Given the description of an element on the screen output the (x, y) to click on. 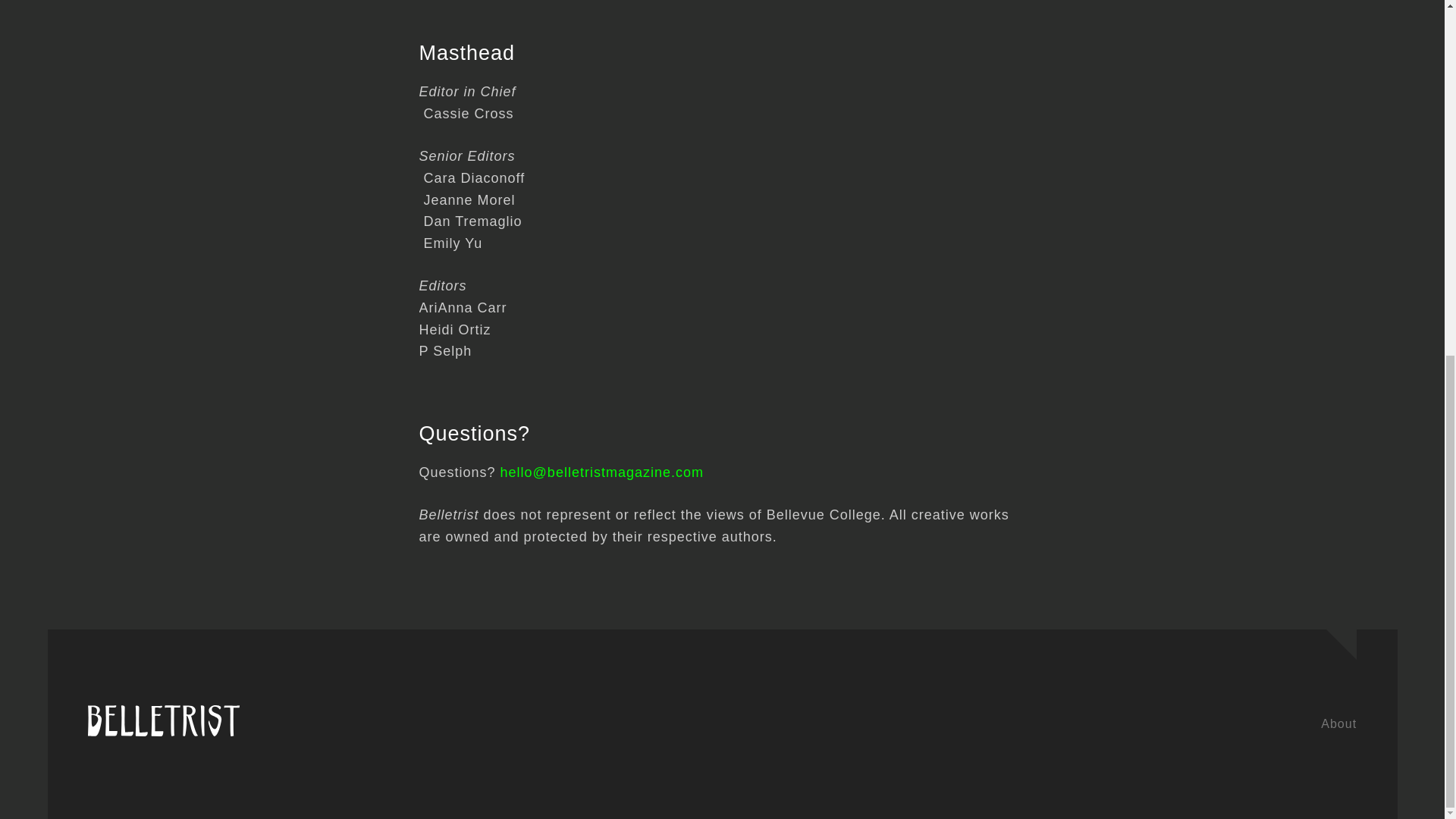
Belletrist Magazine (163, 729)
About (1338, 723)
